Given the description of an element on the screen output the (x, y) to click on. 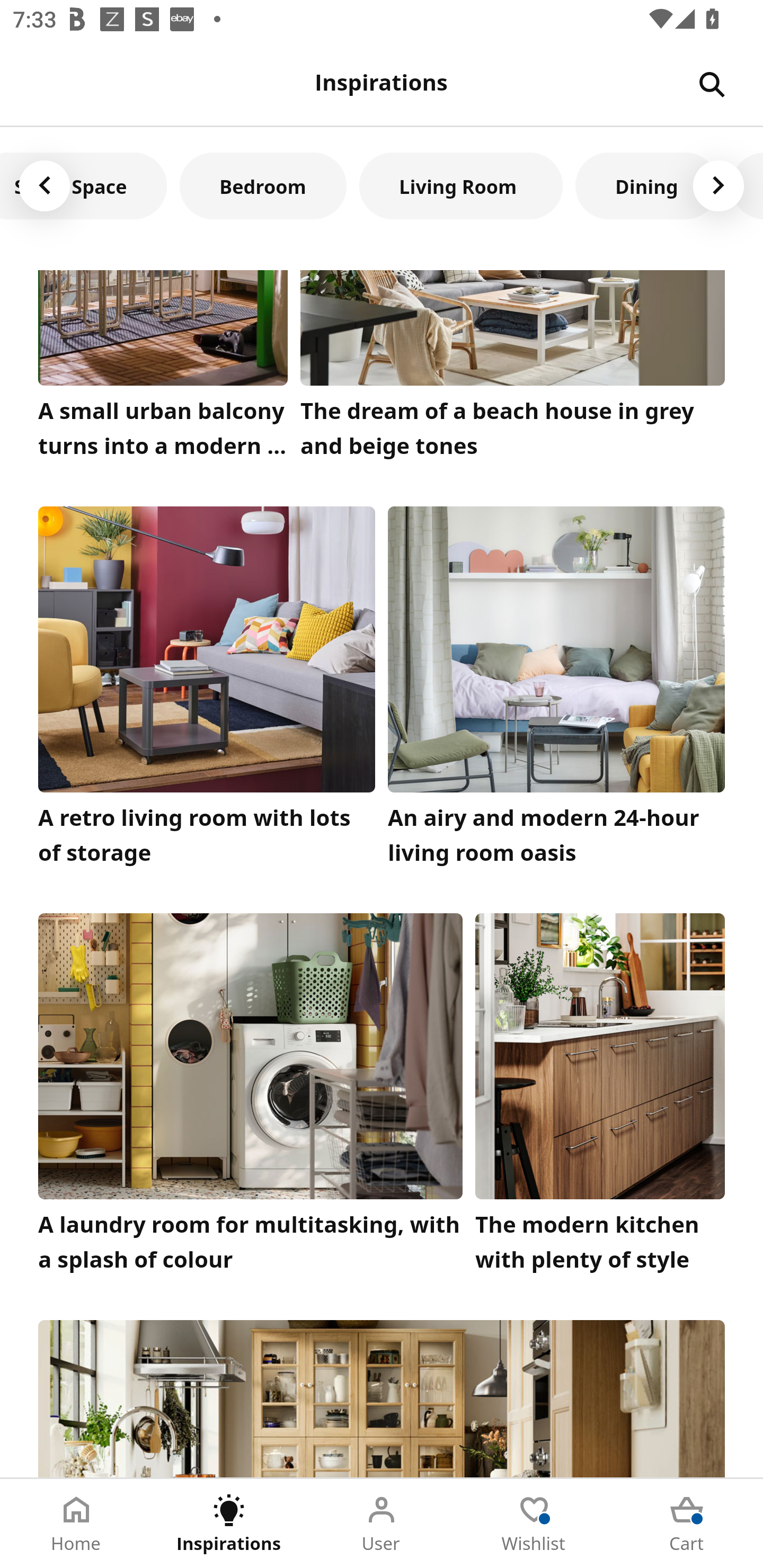
Bedroom (262, 185)
Living Room  (461, 185)
Dining (646, 185)
The dream of a beach house in grey and beige tones (512, 368)
A retro living room with lots of storage (206, 690)
An airy and modern 24-hour living room oasis (555, 690)
The modern kitchen with plenty of style (599, 1097)
Home
Tab 1 of 5 (76, 1522)
Inspirations
Tab 2 of 5 (228, 1522)
User
Tab 3 of 5 (381, 1522)
Wishlist
Tab 4 of 5 (533, 1522)
Cart
Tab 5 of 5 (686, 1522)
